Given the description of an element on the screen output the (x, y) to click on. 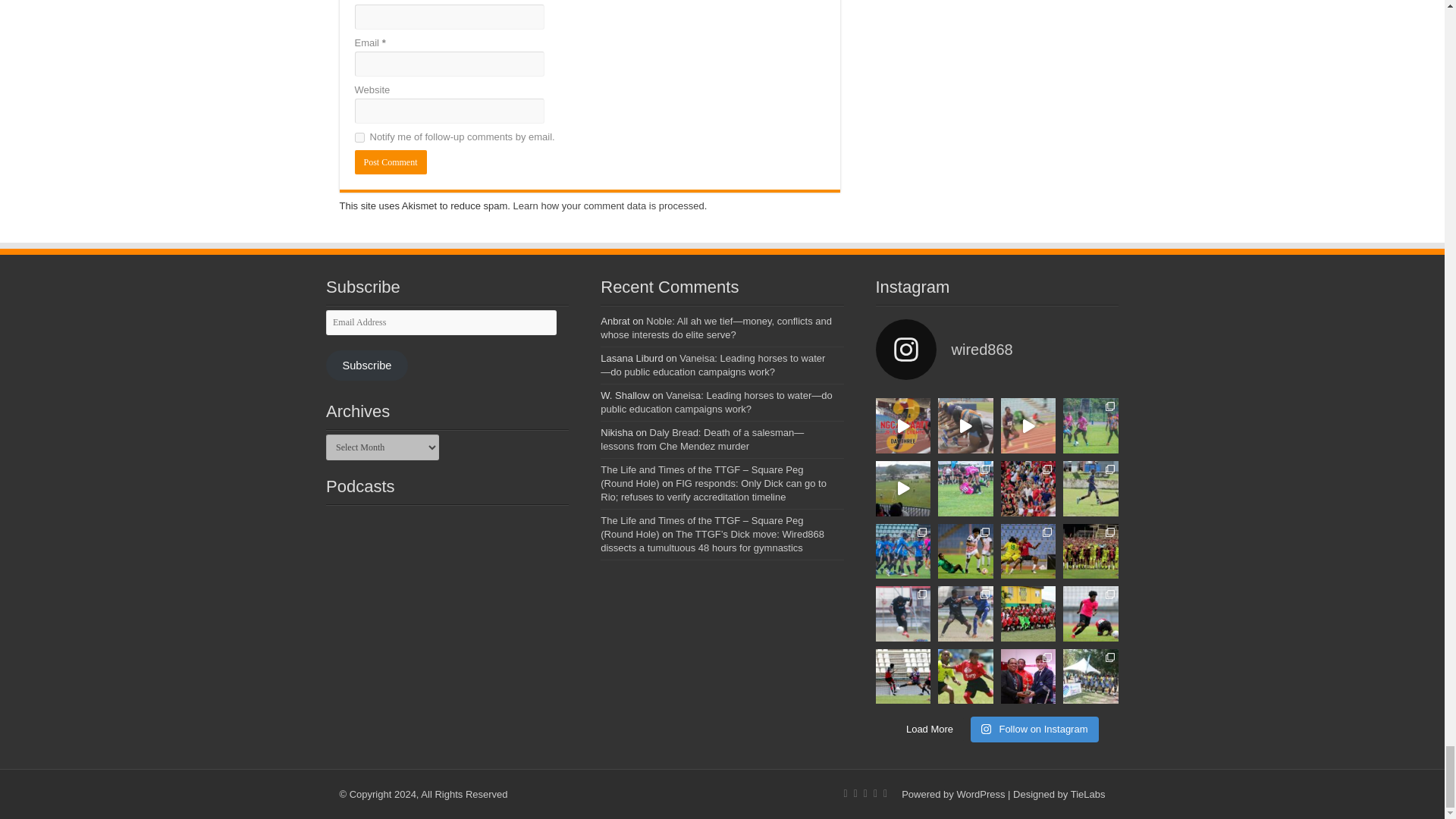
Post Comment (390, 161)
subscribe (360, 137)
